Given the description of an element on the screen output the (x, y) to click on. 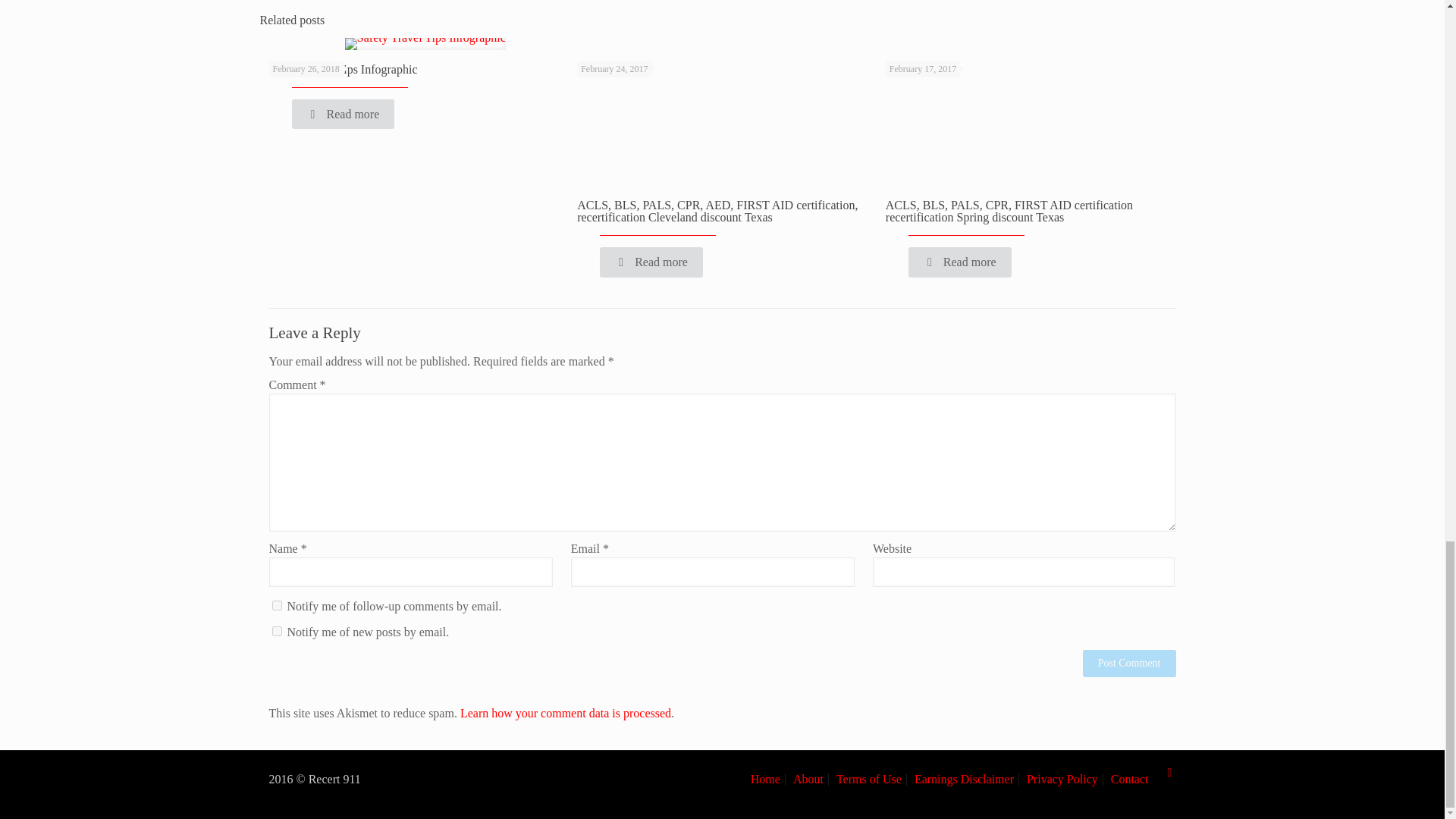
Post Comment (1129, 664)
subscribe (275, 631)
subscribe (275, 605)
